Given the description of an element on the screen output the (x, y) to click on. 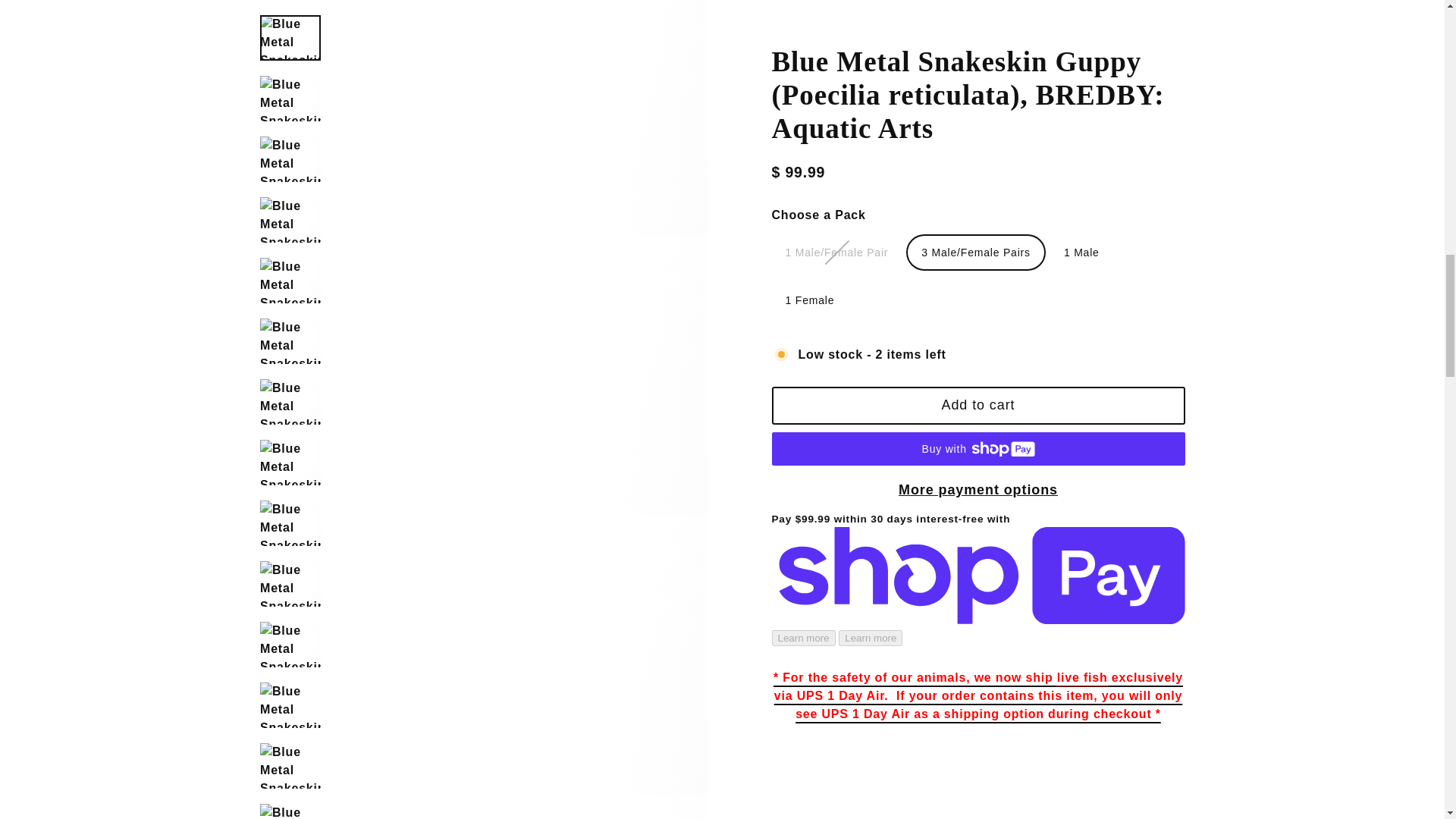
Aquatic Arts Flake Food (800, 3)
Live Arrival Guarantee Explained (978, 689)
Aquatic Arts Sinking Pellets (857, 3)
